Given the description of an element on the screen output the (x, y) to click on. 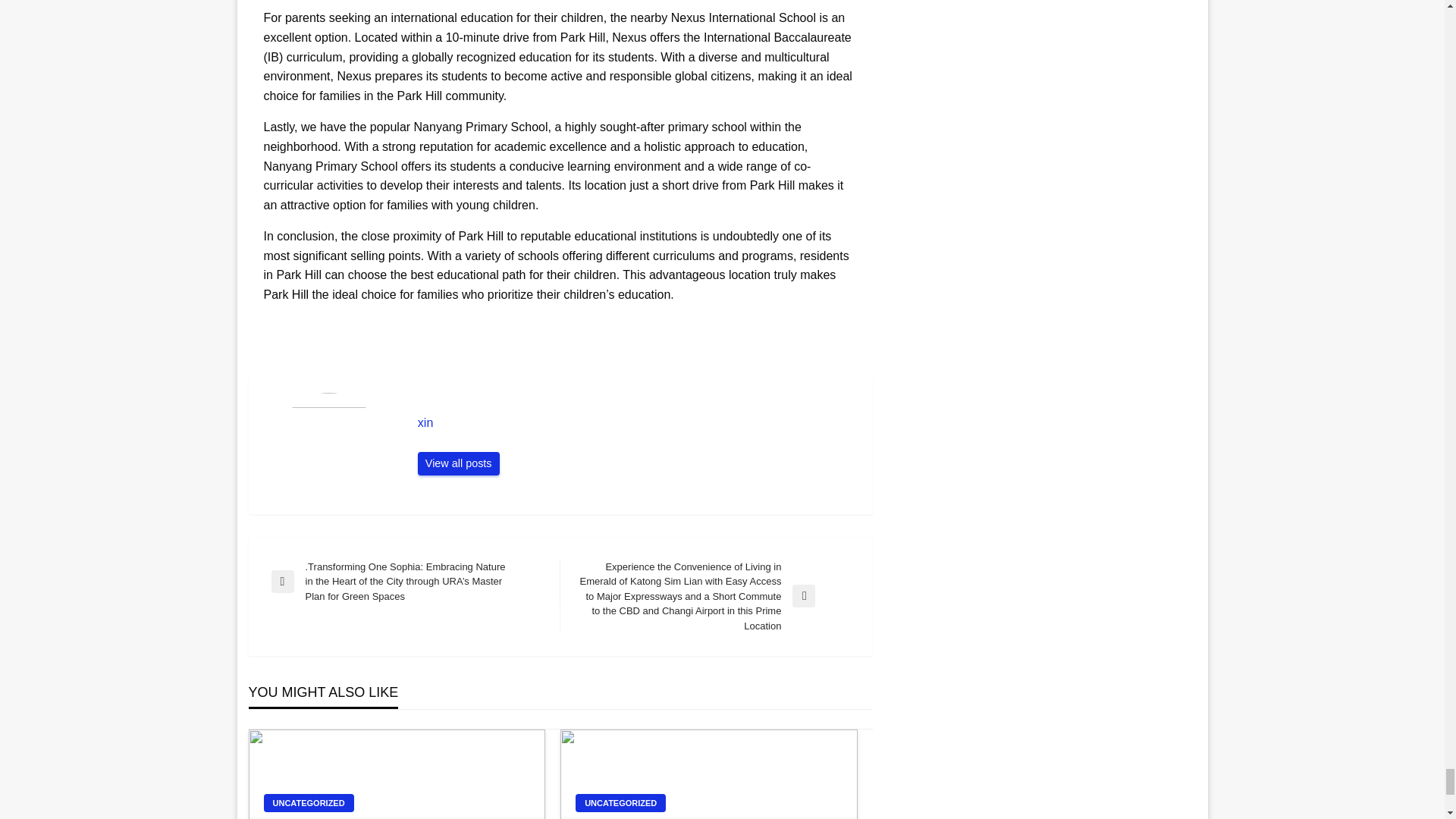
UNCATEGORIZED (620, 802)
View all posts (458, 463)
UNCATEGORIZED (308, 802)
xin (458, 463)
xin (637, 422)
xin (637, 422)
